Given the description of an element on the screen output the (x, y) to click on. 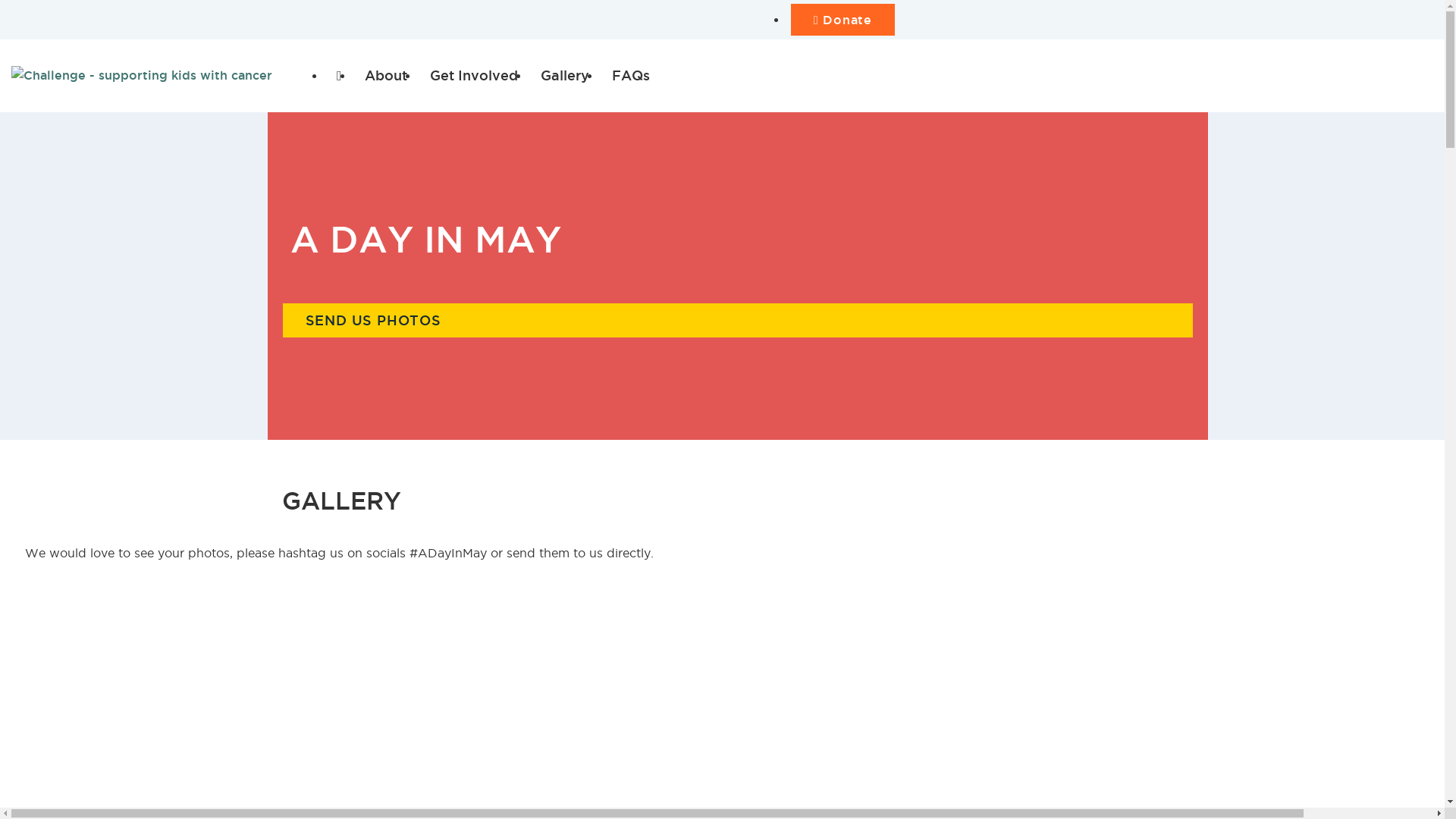
FAQs Element type: text (630, 75)
Gallery Element type: text (564, 75)
Donate Element type: text (842, 19)
About Element type: text (385, 75)
SEND US PHOTOS Element type: text (737, 320)
Get Involved Element type: text (473, 75)
